Given the description of an element on the screen output the (x, y) to click on. 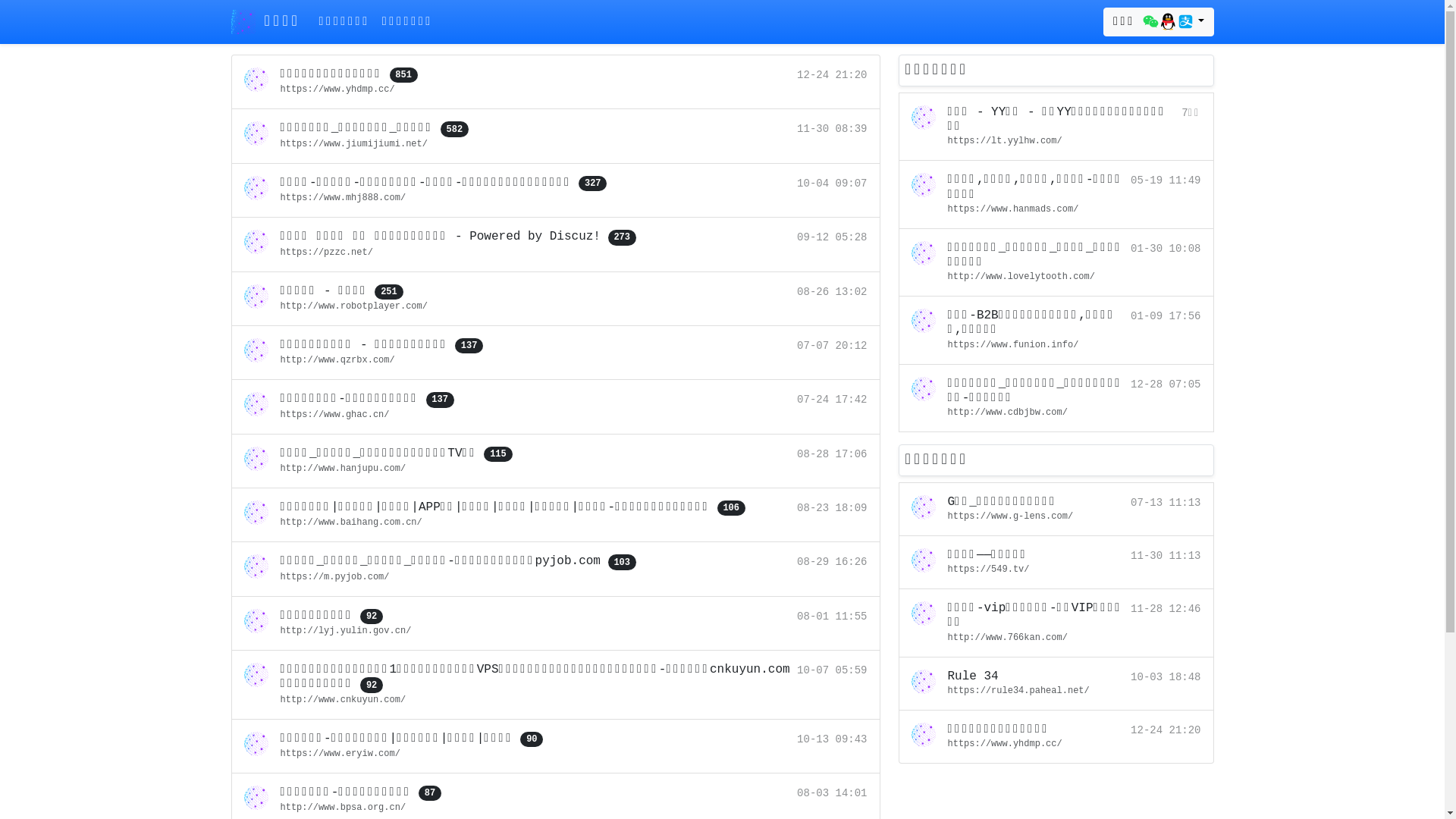
Rule 34
https://rule34.paheal.net/
10-03 18:48 Element type: text (1055, 683)
